Given the description of an element on the screen output the (x, y) to click on. 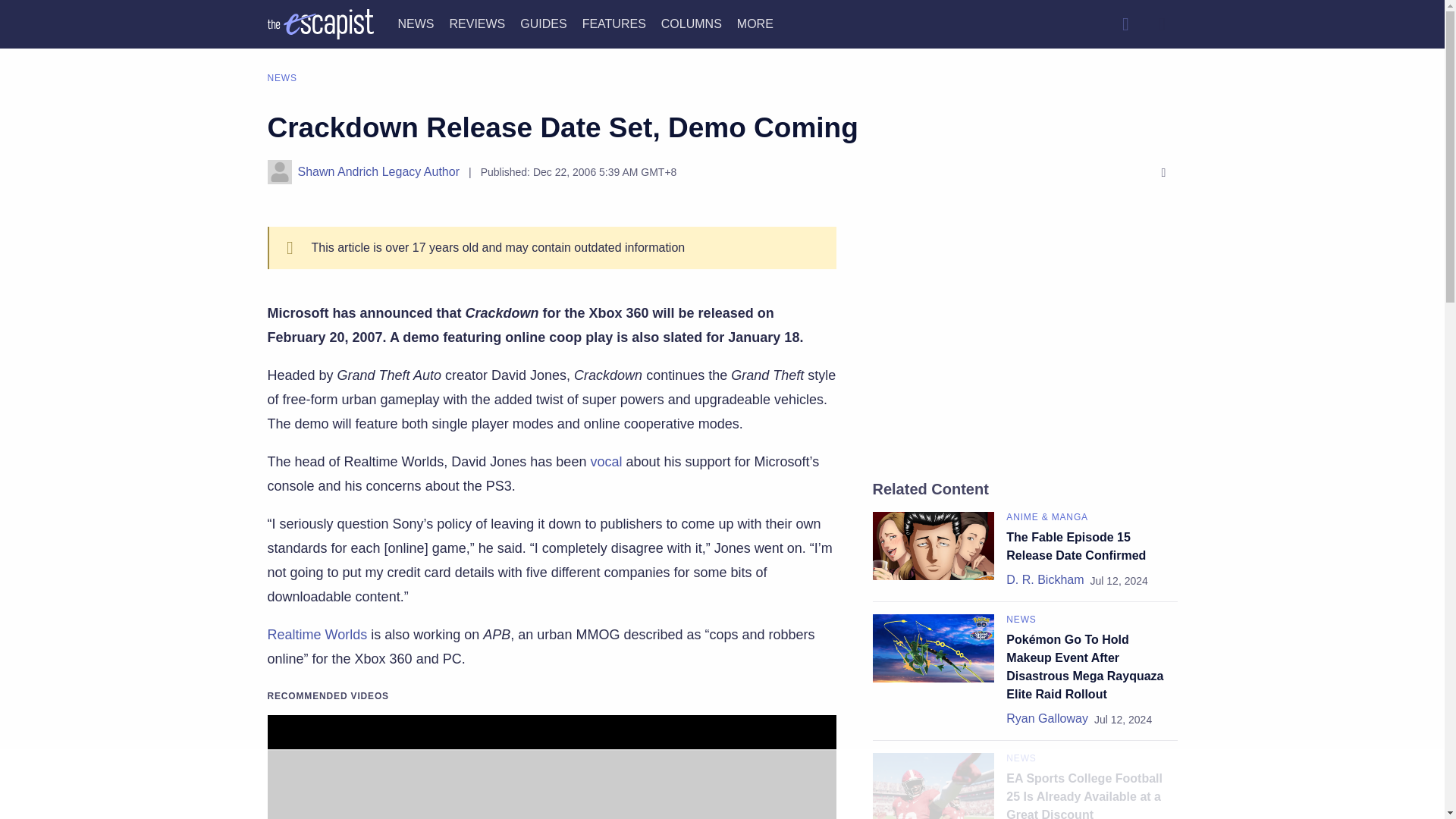
GUIDES (542, 23)
COLUMNS (691, 23)
Search (1124, 24)
3rd party ad content (1024, 339)
REVIEWS (476, 23)
FEATURES (614, 23)
Dark Mode (1161, 24)
NEWS (415, 23)
